Given the description of an element on the screen output the (x, y) to click on. 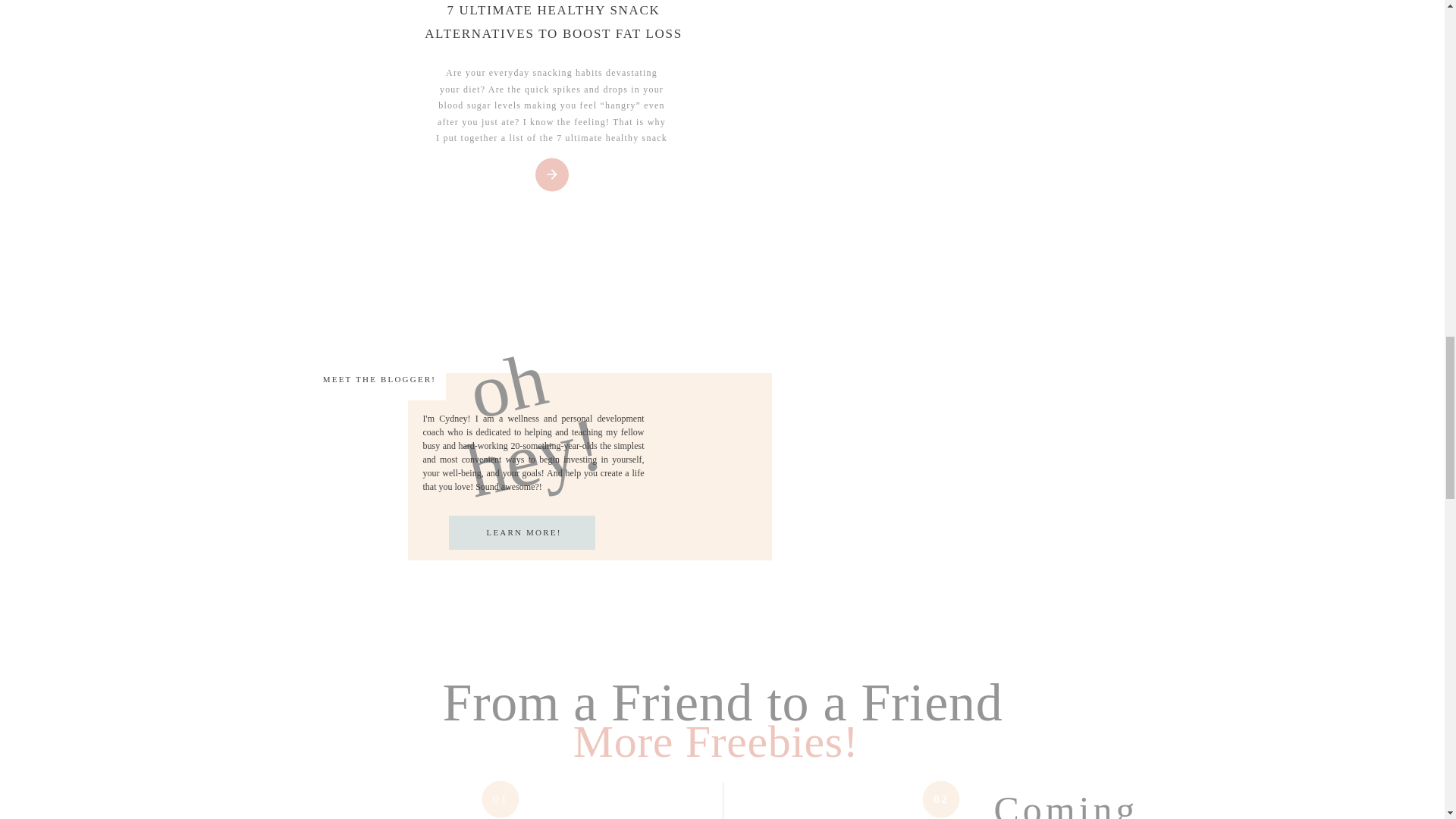
7 Ultimate Healthy Snack Alternatives to Boost Fat Loss (549, 176)
